Given the description of an element on the screen output the (x, y) to click on. 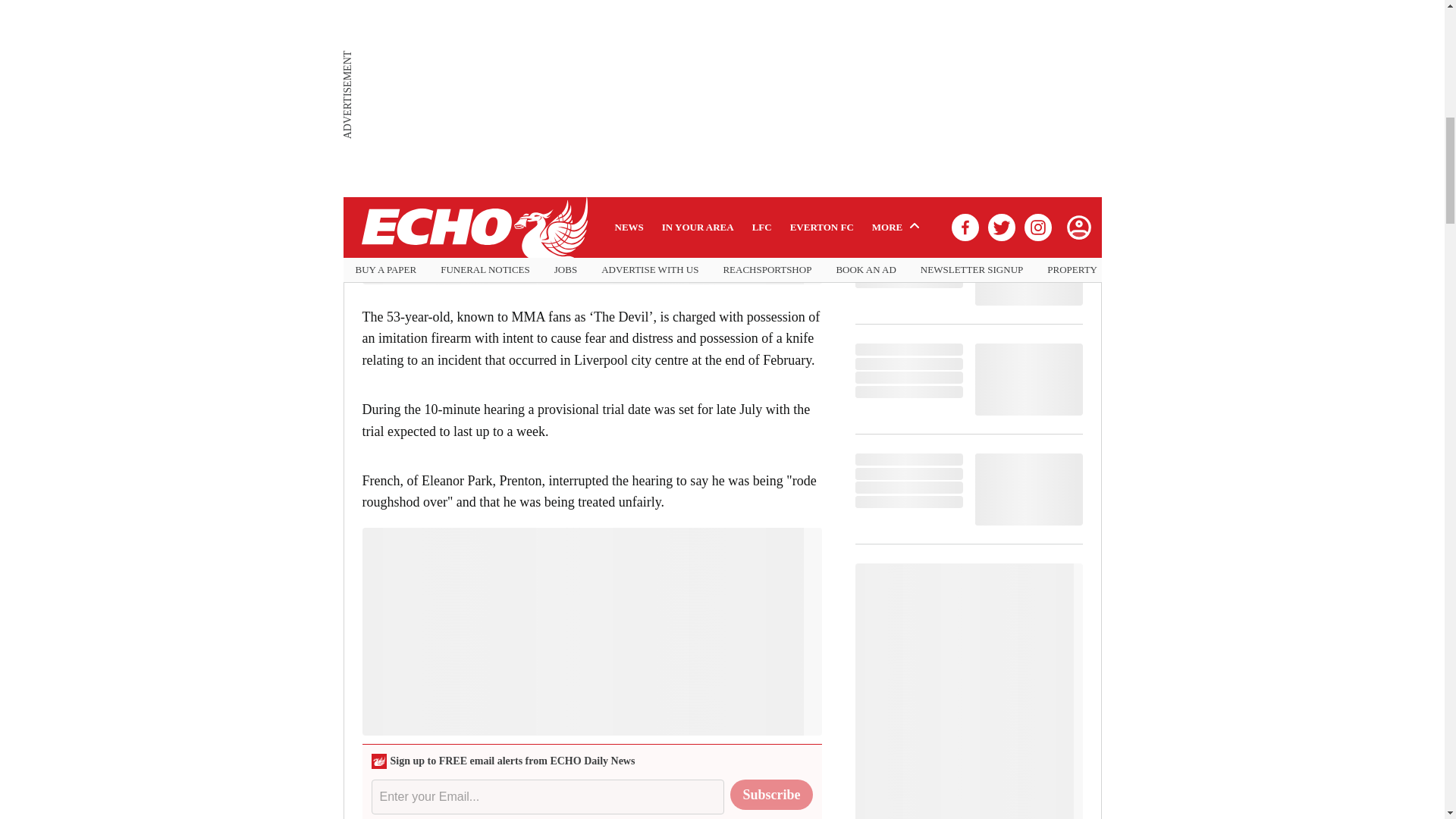
Subscribe (771, 794)
